Given the description of an element on the screen output the (x, y) to click on. 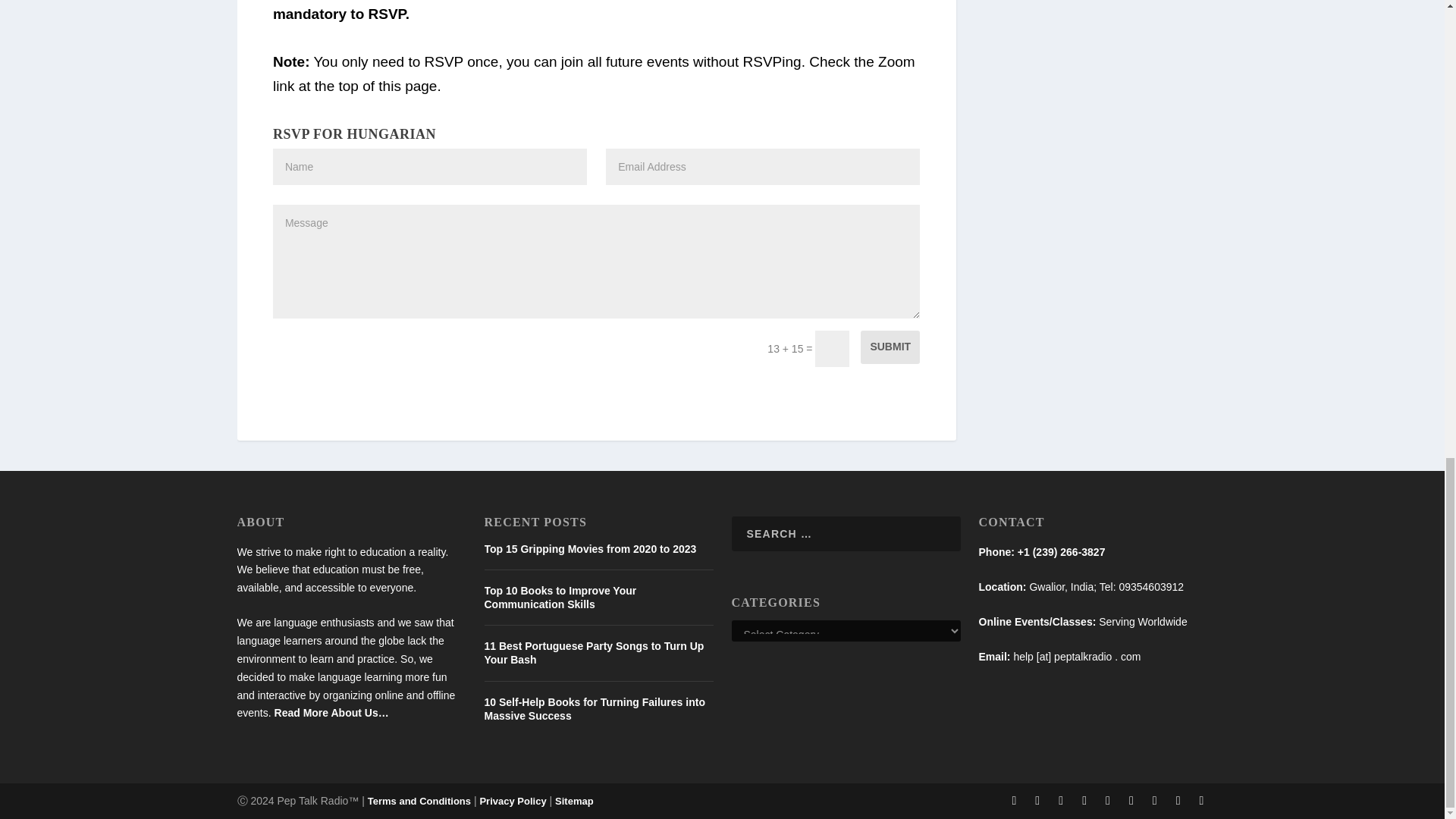
Email Address (762, 166)
SUBMIT (890, 346)
Name (429, 166)
